Given the description of an element on the screen output the (x, y) to click on. 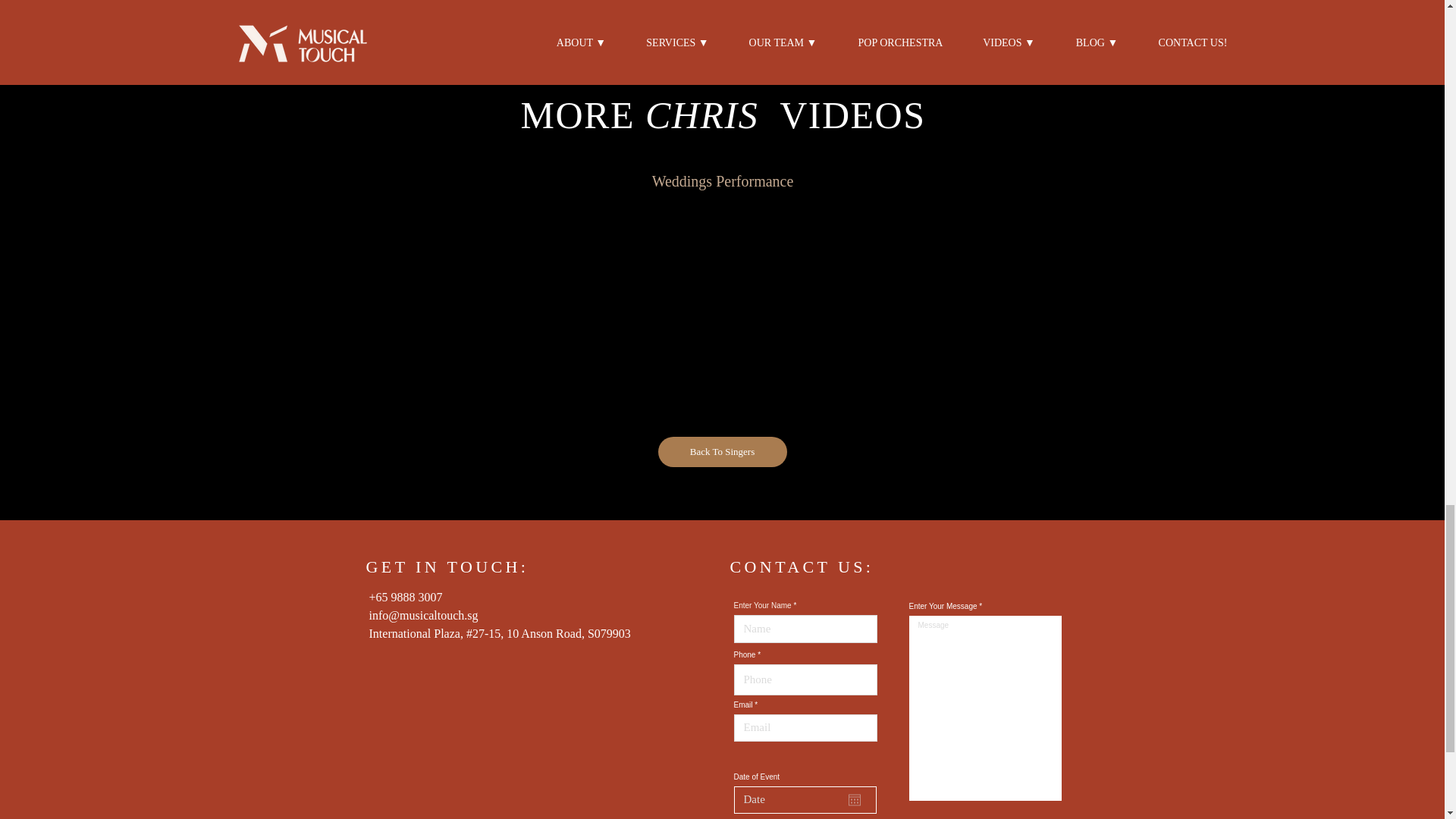
Back To Singers (722, 451)
Contact Us Now (722, 6)
Embedded Content (517, 734)
